Given the description of an element on the screen output the (x, y) to click on. 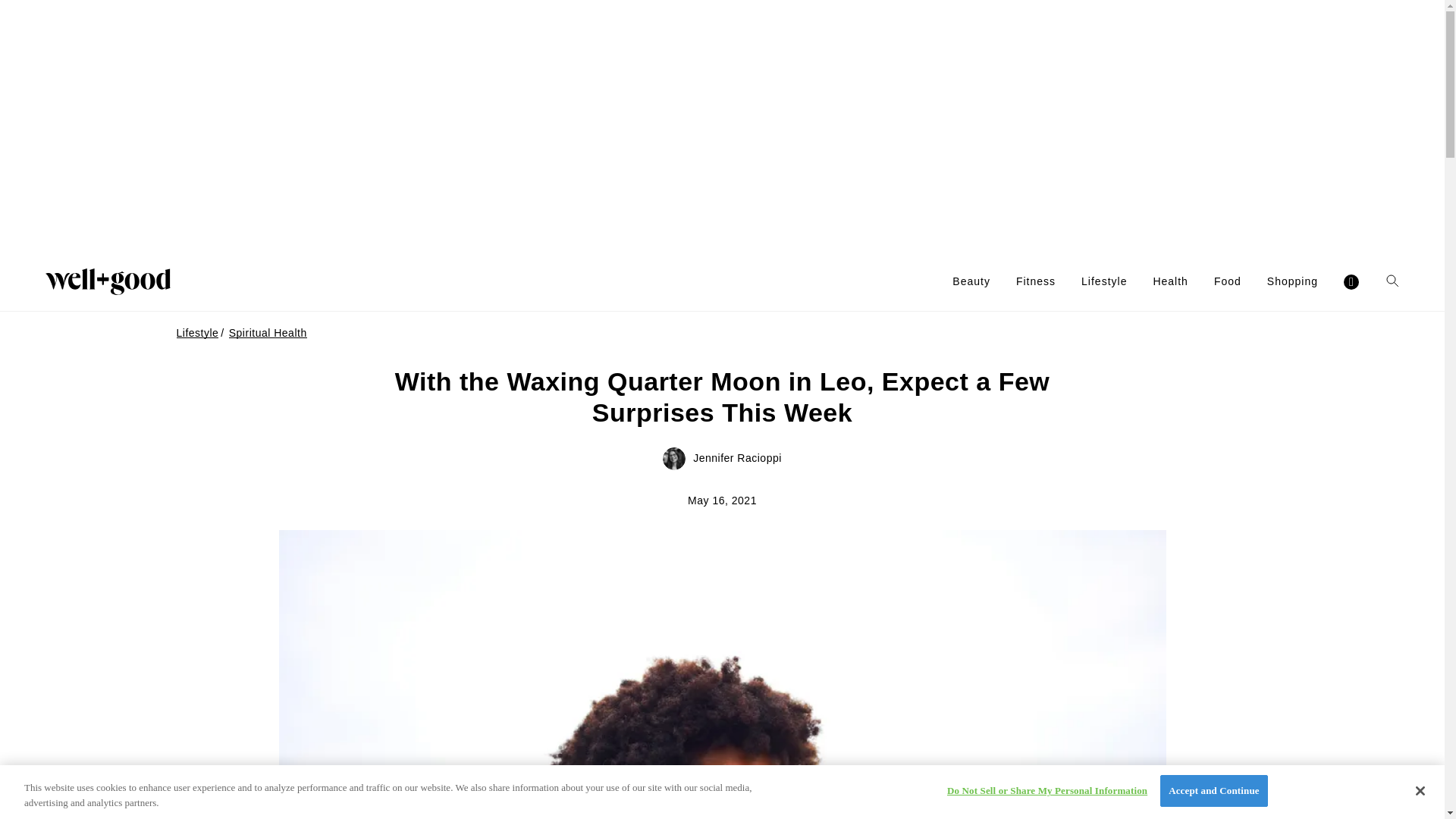
Beauty (971, 281)
Shopping (1291, 281)
Lifestyle (1103, 281)
Health (1170, 281)
Food (1227, 281)
3rd party ad content (721, 126)
Fitness (1035, 281)
